Given the description of an element on the screen output the (x, y) to click on. 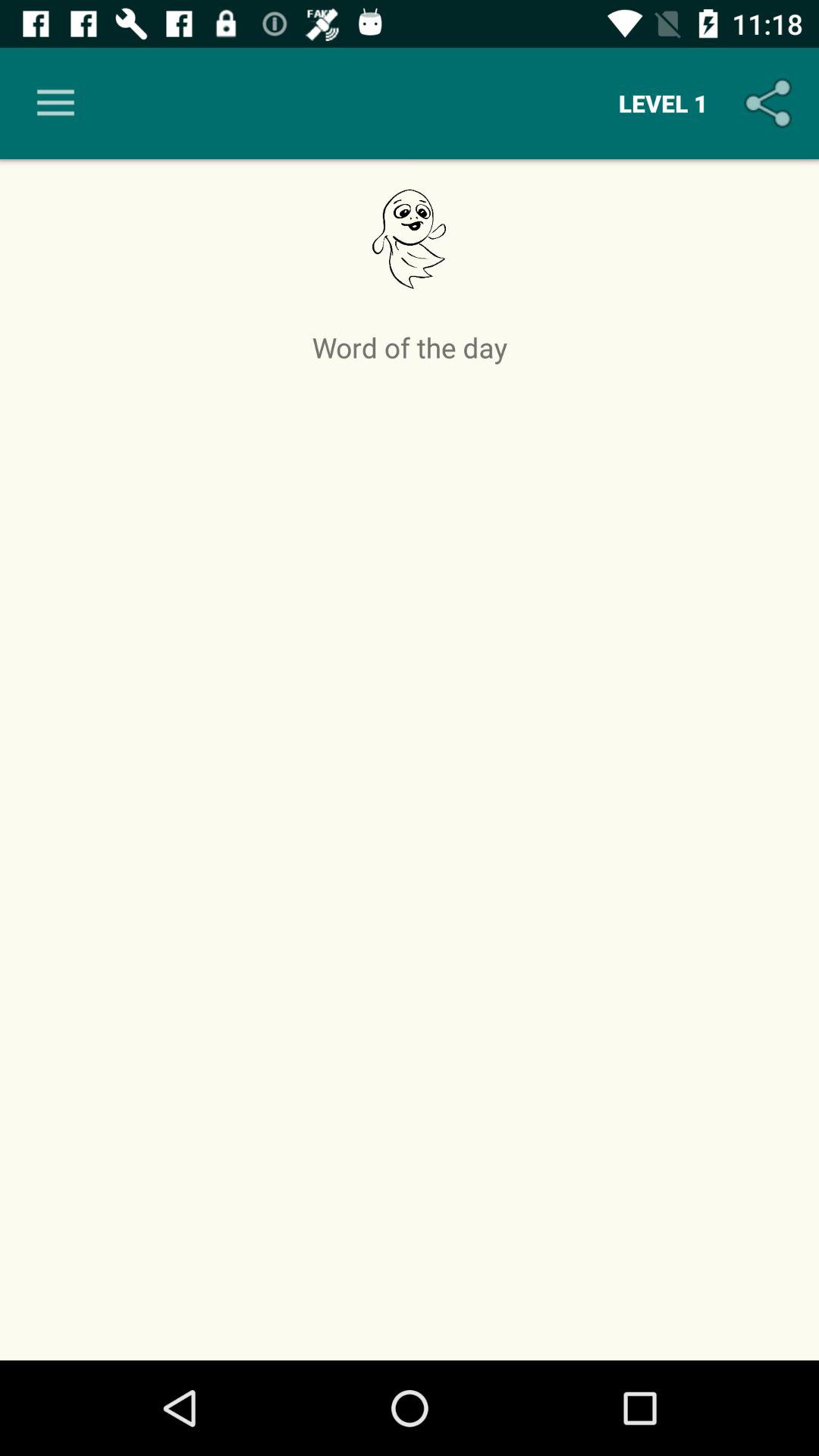
launch icon at the top left corner (55, 103)
